Given the description of an element on the screen output the (x, y) to click on. 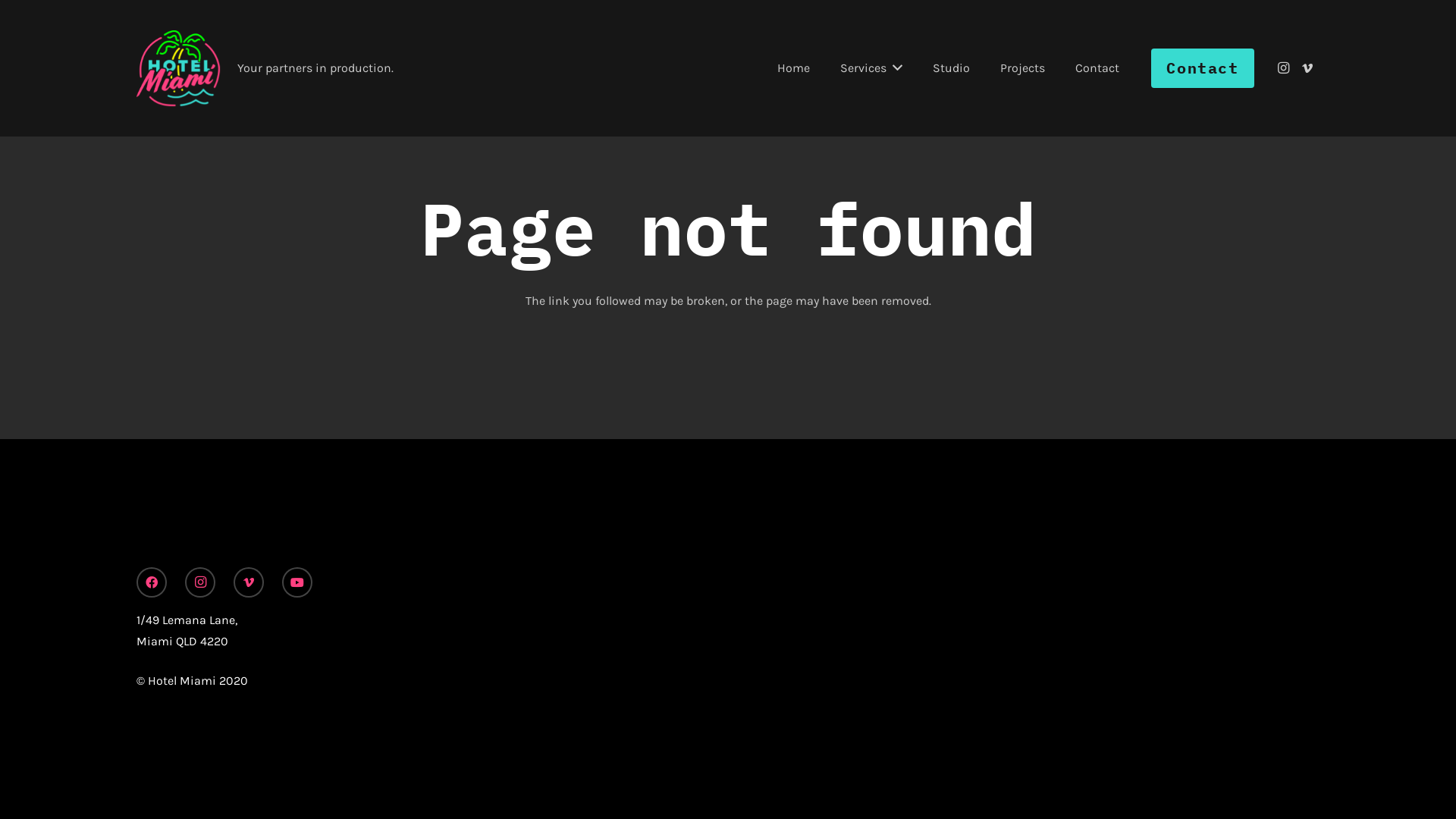
YouTube Element type: hover (297, 582)
Studio Element type: text (951, 68)
Home Element type: text (793, 68)
Facebook Element type: hover (151, 582)
Instagram Element type: hover (200, 582)
Projects Element type: text (1022, 68)
Vimeo Element type: hover (1307, 68)
Contact Element type: text (1202, 67)
Services Element type: text (871, 68)
Contact Element type: text (1097, 68)
Vimeo Element type: hover (248, 582)
Instagram Element type: hover (1282, 68)
